Given the description of an element on the screen output the (x, y) to click on. 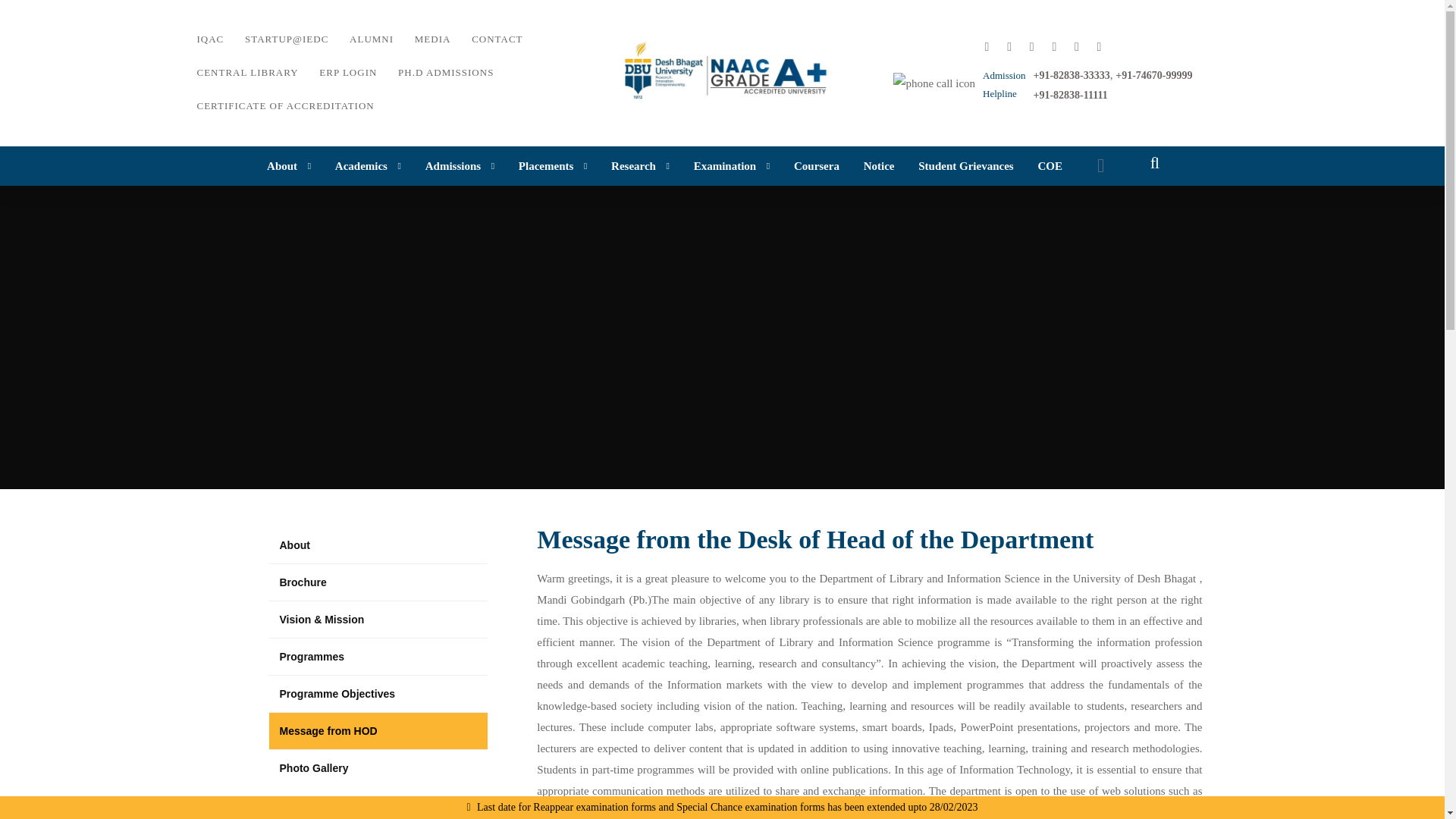
ERP LOGIN (347, 72)
CENTRAL LIBRARY (247, 72)
CERTIFICATE OF ACCREDITATION (285, 105)
IQAC (209, 39)
MEDIA (433, 39)
About (288, 165)
CONTACT (497, 39)
PH.D ADMISSIONS (445, 72)
ALUMNI (371, 39)
